Given the description of an element on the screen output the (x, y) to click on. 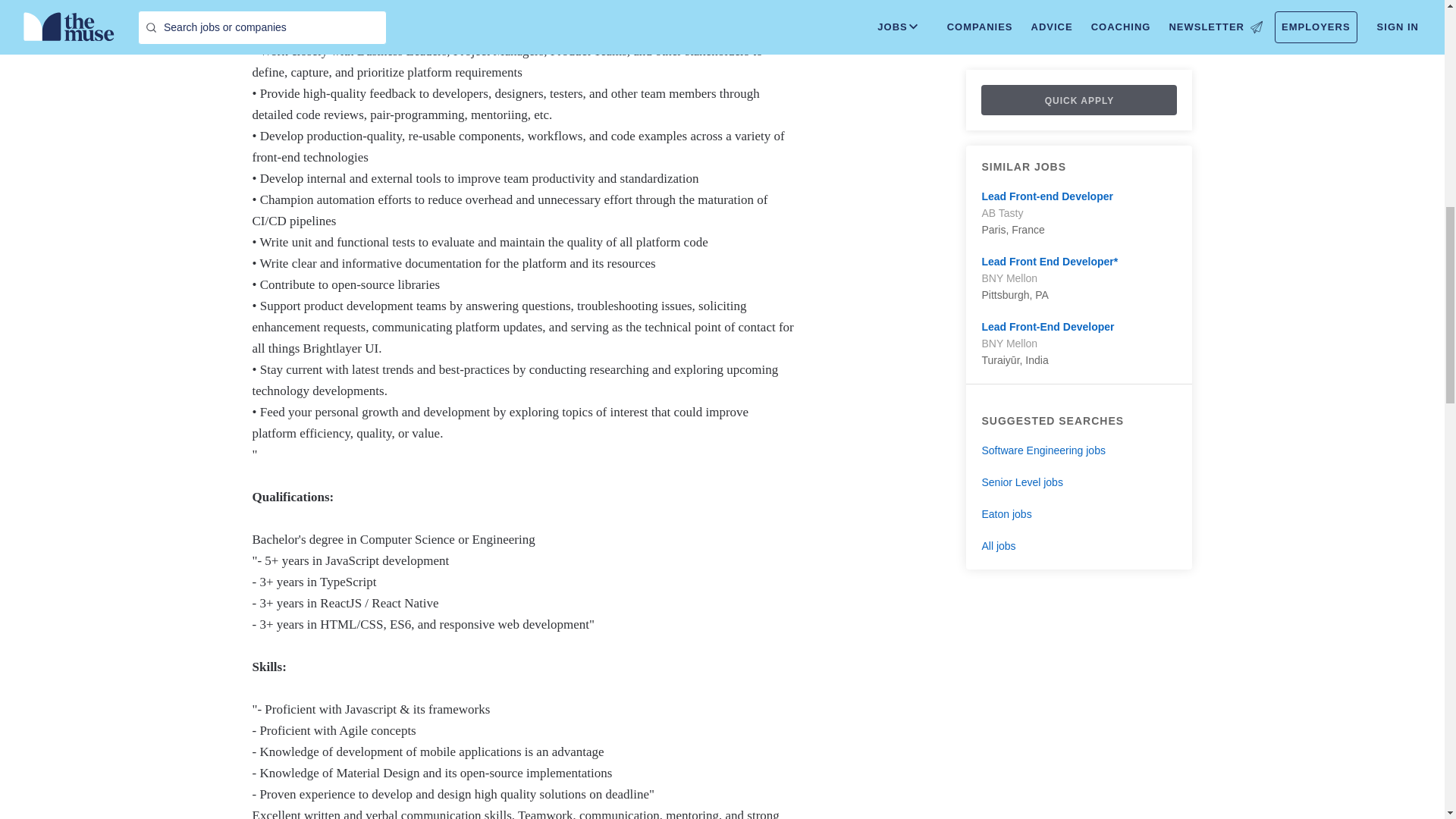
Terms of Service (432, 1)
Privacy Policy (506, 1)
